Given the description of an element on the screen output the (x, y) to click on. 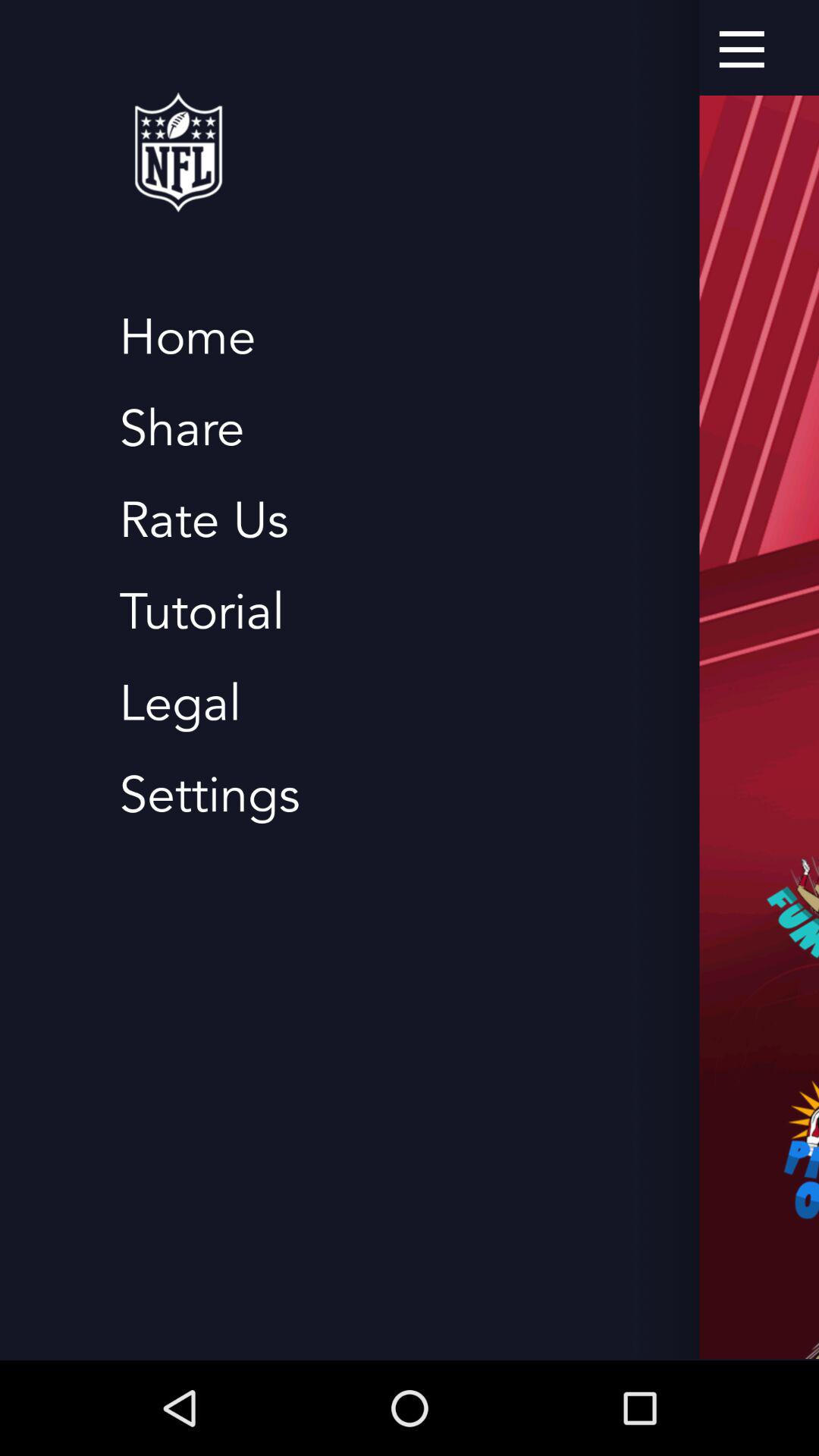
jump to the settings item (209, 795)
